Given the description of an element on the screen output the (x, y) to click on. 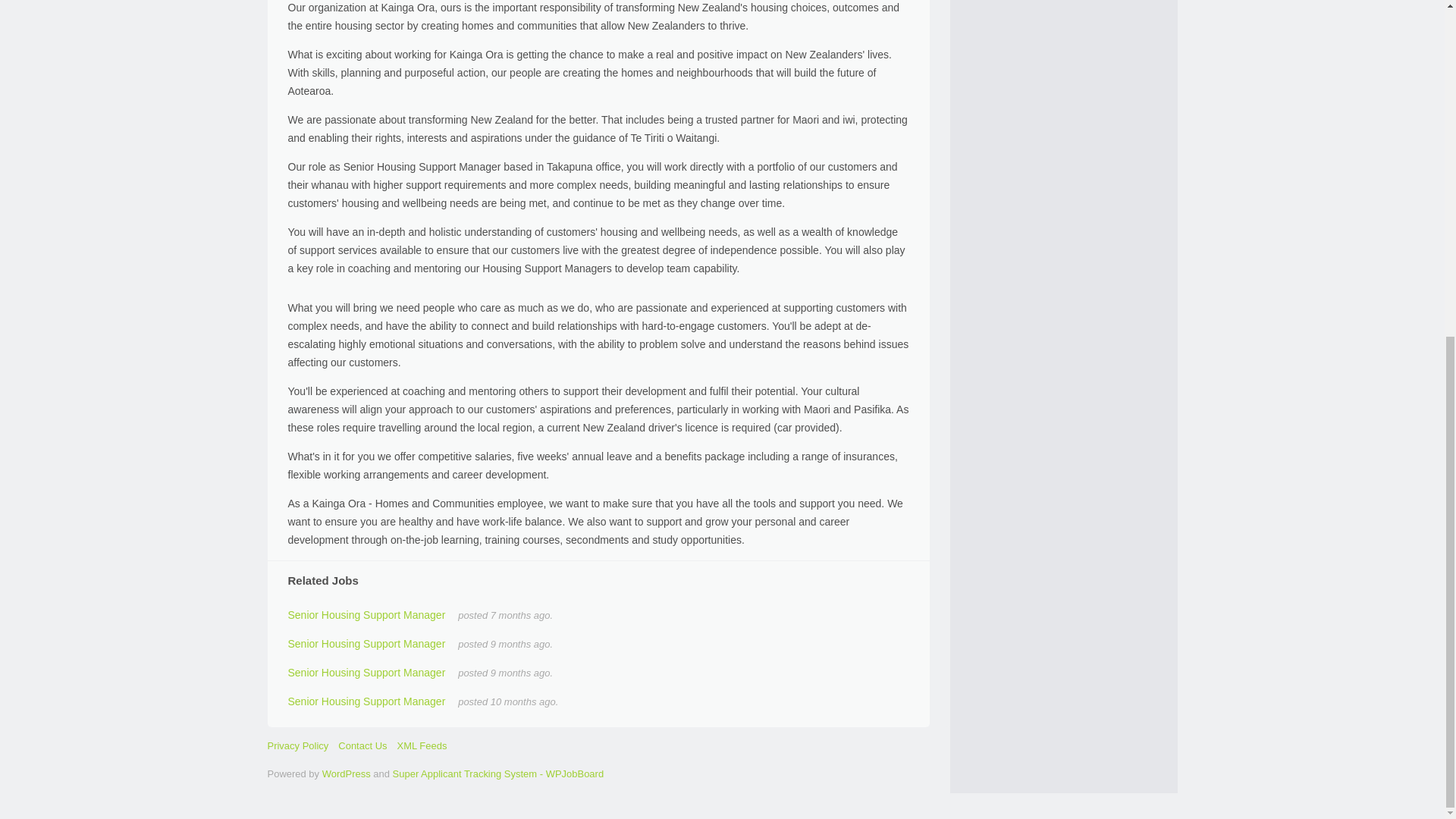
Super Applicant Tracking System - WPJobBoard (498, 773)
WordPress (346, 773)
XML Feeds (421, 745)
Senior Housing Support Manager (366, 672)
Senior Housing Support Manager (366, 614)
Senior Housing Support Manager (366, 644)
Contact Us (362, 745)
Senior Housing Support Manager (366, 701)
Privacy Policy (297, 745)
